Given the description of an element on the screen output the (x, y) to click on. 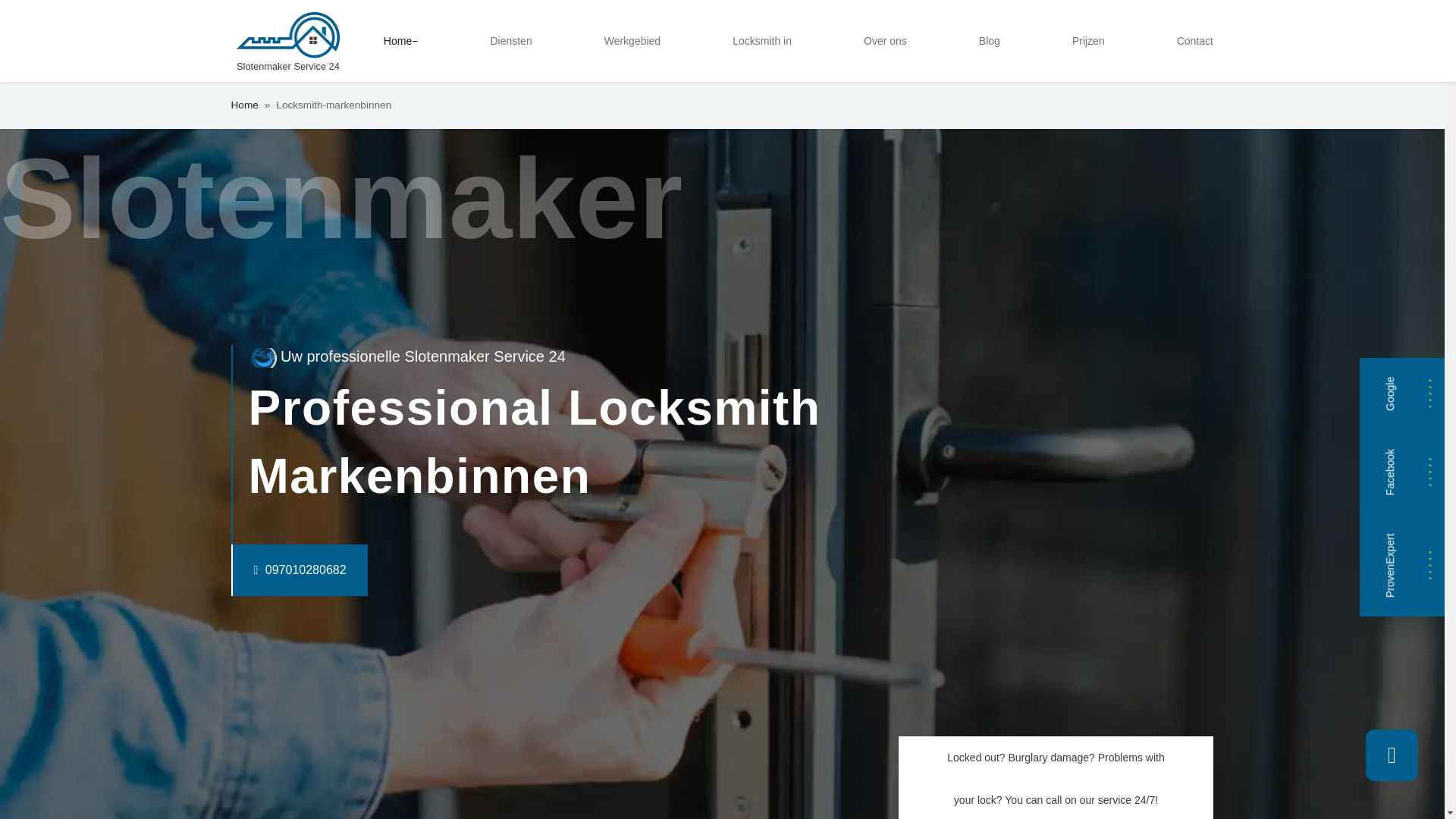
Werkgebied (632, 40)
Slotenmaker Service 24 (287, 40)
Home (401, 40)
Blog (989, 40)
Home (243, 105)
Locksmith in (761, 40)
Diensten (510, 40)
Contact (1195, 40)
097010280682 (268, 570)
Over ons (884, 40)
Prijzen (1087, 40)
